Given the description of an element on the screen output the (x, y) to click on. 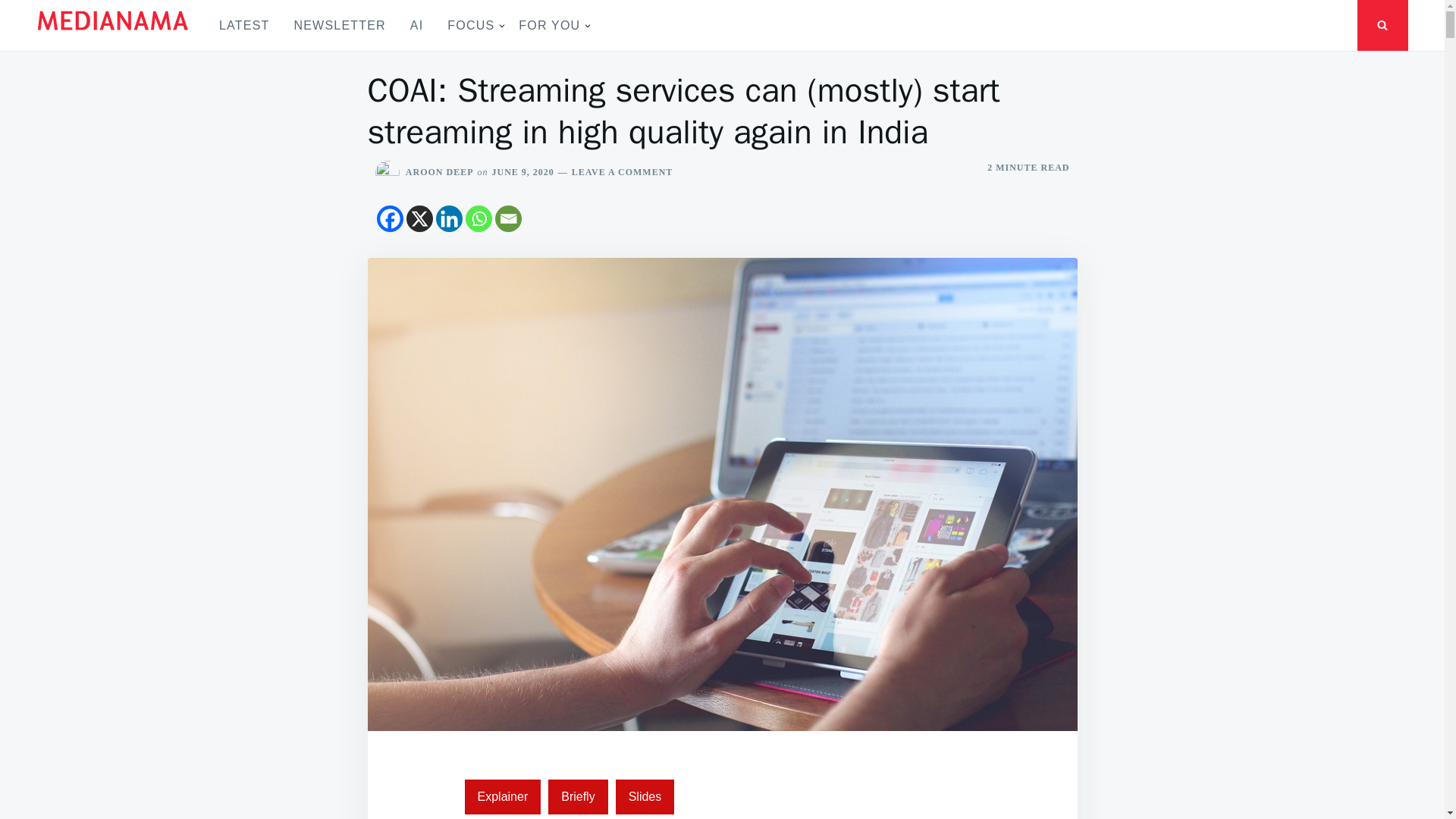
MEDIANAMA (95, 55)
FOR YOU (549, 25)
X (419, 218)
LATEST (243, 25)
Linkedin (448, 218)
Briefly (577, 796)
Whatsapp (478, 218)
AROON DEEP (440, 172)
Facebook (389, 218)
Explainer (502, 796)
